Given the description of an element on the screen output the (x, y) to click on. 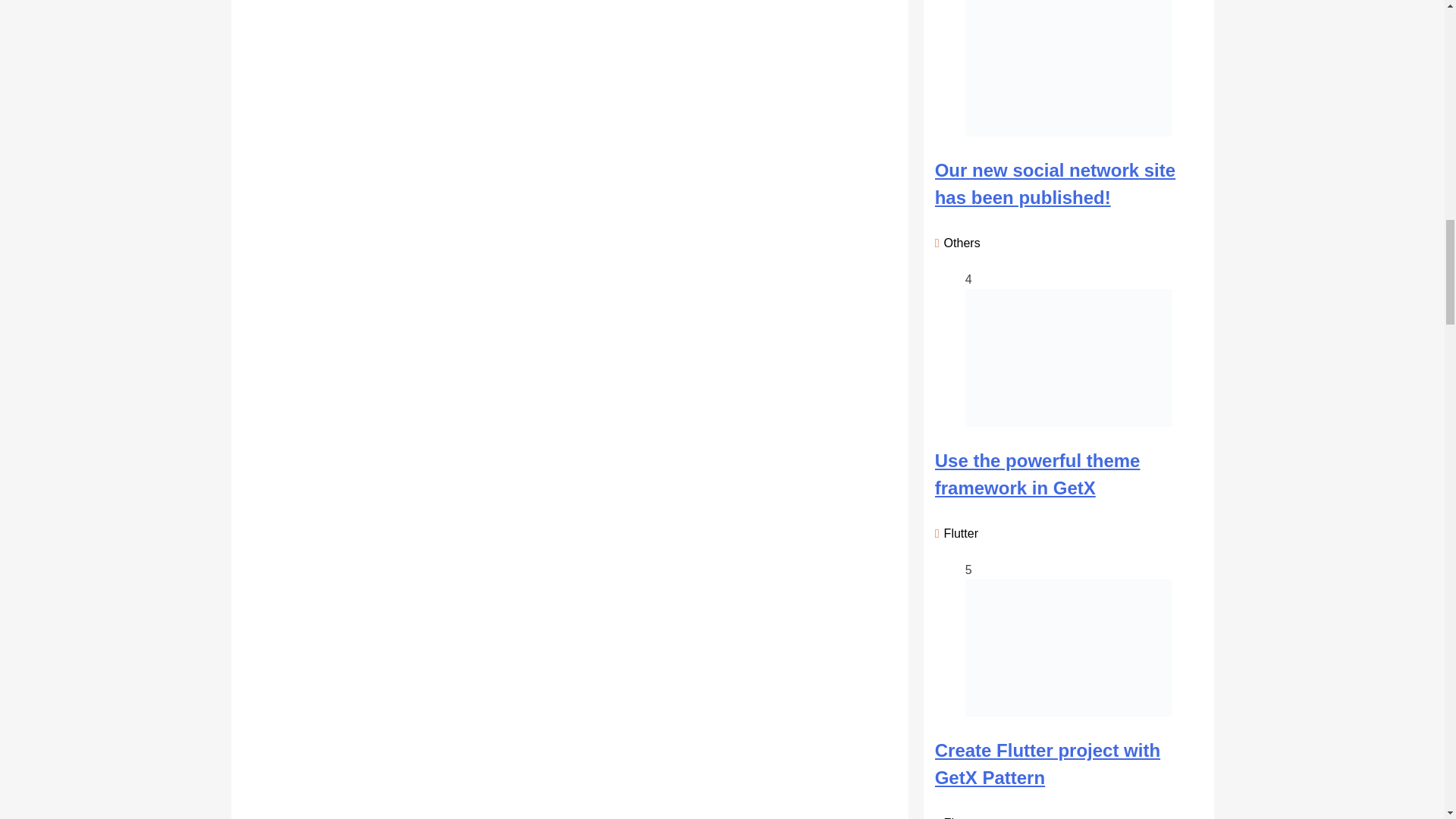
Others (959, 242)
Use the powerful theme framework in GetX (1037, 473)
Our new social network site has been published! (1054, 183)
